Given the description of an element on the screen output the (x, y) to click on. 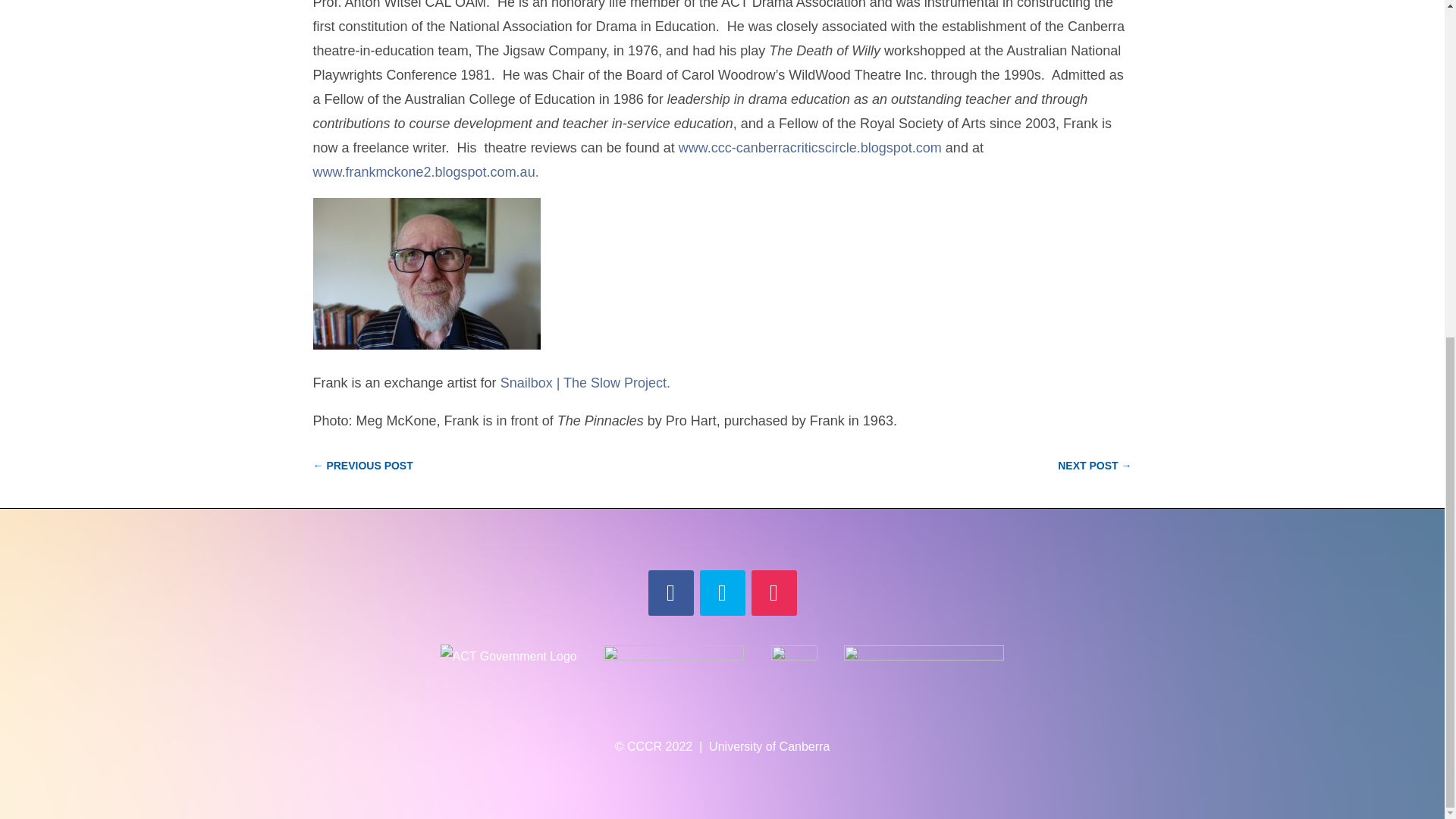
Follow on Facebook (670, 592)
www.ccc-canberracriticscircle.blogspot.com (810, 147)
Follow on Instagram (773, 592)
www.frankmckone2.blogspot.com.au. (425, 171)
Follow on Twitter (721, 592)
